Given the description of an element on the screen output the (x, y) to click on. 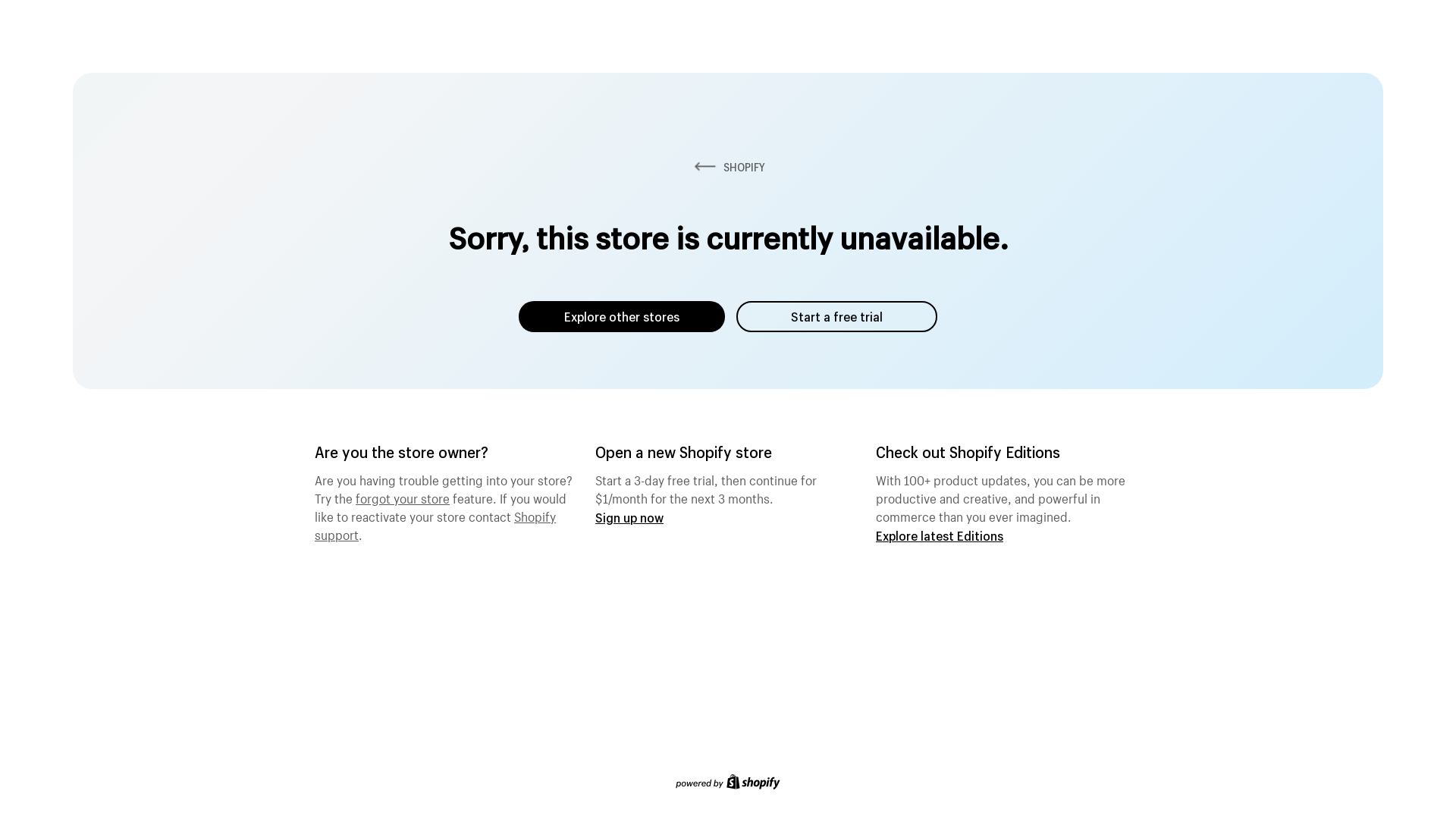
SHOPIFY Element type: text (727, 167)
Start a free trial Element type: text (836, 316)
forgot your store Element type: text (402, 496)
Explore other stores Element type: text (621, 316)
Sign up now Element type: text (629, 517)
Explore latest Editions Element type: text (939, 535)
Shopify support Element type: text (434, 523)
